Given the description of an element on the screen output the (x, y) to click on. 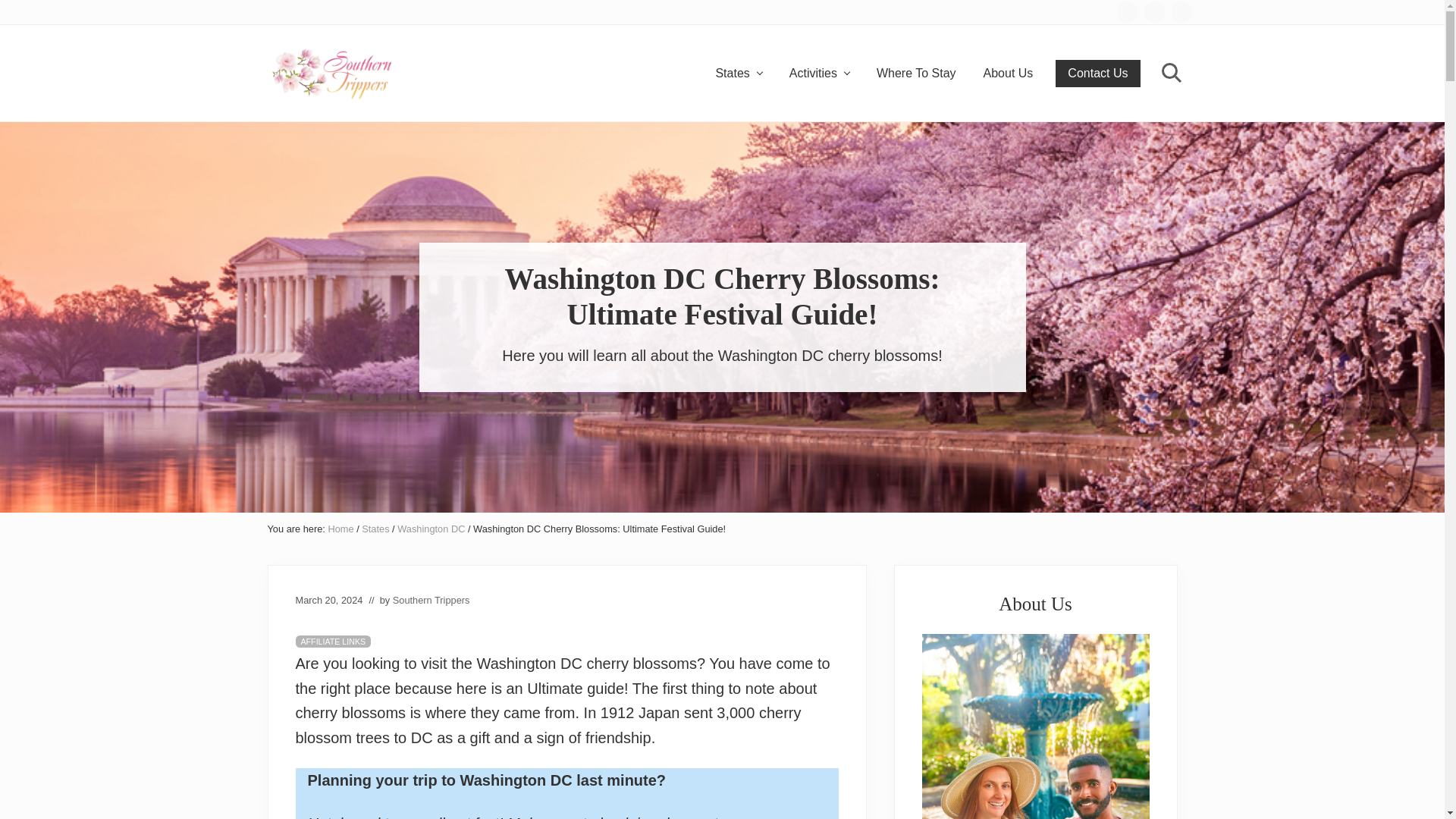
Facebook (1126, 11)
Instagram (1154, 11)
Pinterest (1181, 11)
